Given the description of an element on the screen output the (x, y) to click on. 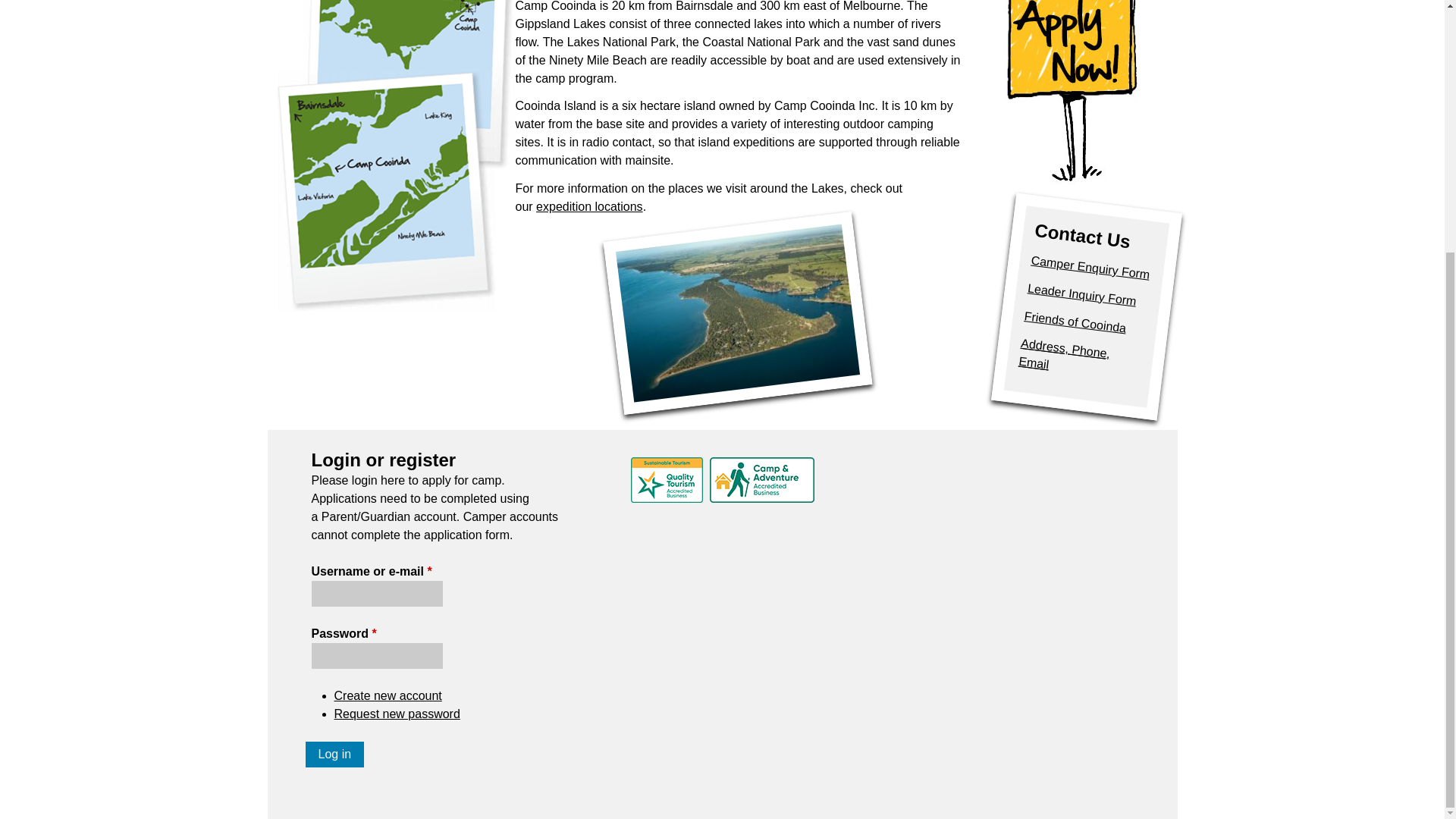
Friends of Cooinda (1074, 315)
expedition locations (589, 205)
Request new password (396, 713)
Leader Inquiry Form (1080, 287)
Log in (334, 754)
Log in (334, 754)
Create a new user account. (387, 695)
Create new account (387, 695)
Address, Phone, Email (1061, 352)
Camper Enquiry Form (1088, 259)
